Given the description of an element on the screen output the (x, y) to click on. 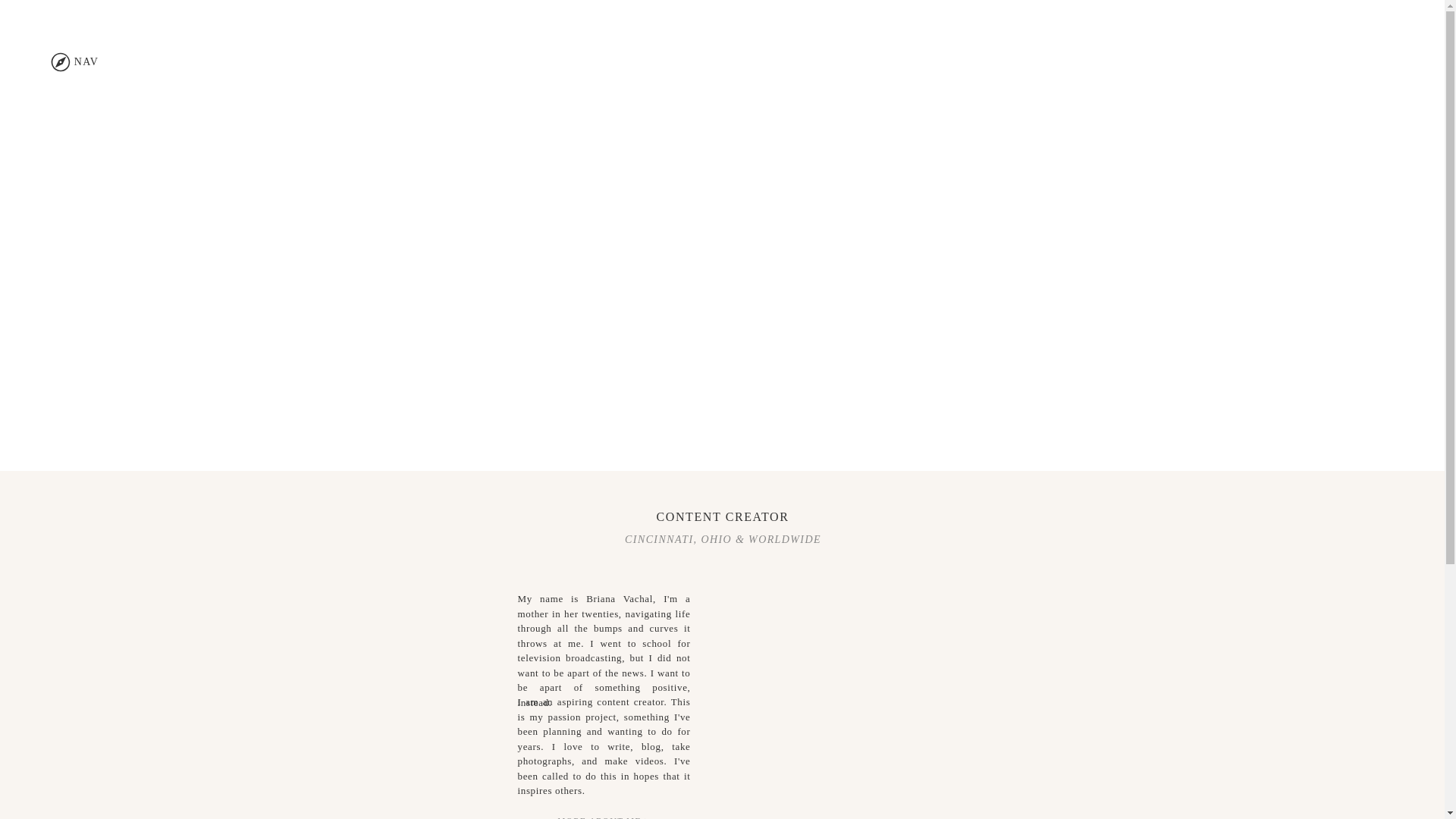
NAV (85, 61)
